Given the description of an element on the screen output the (x, y) to click on. 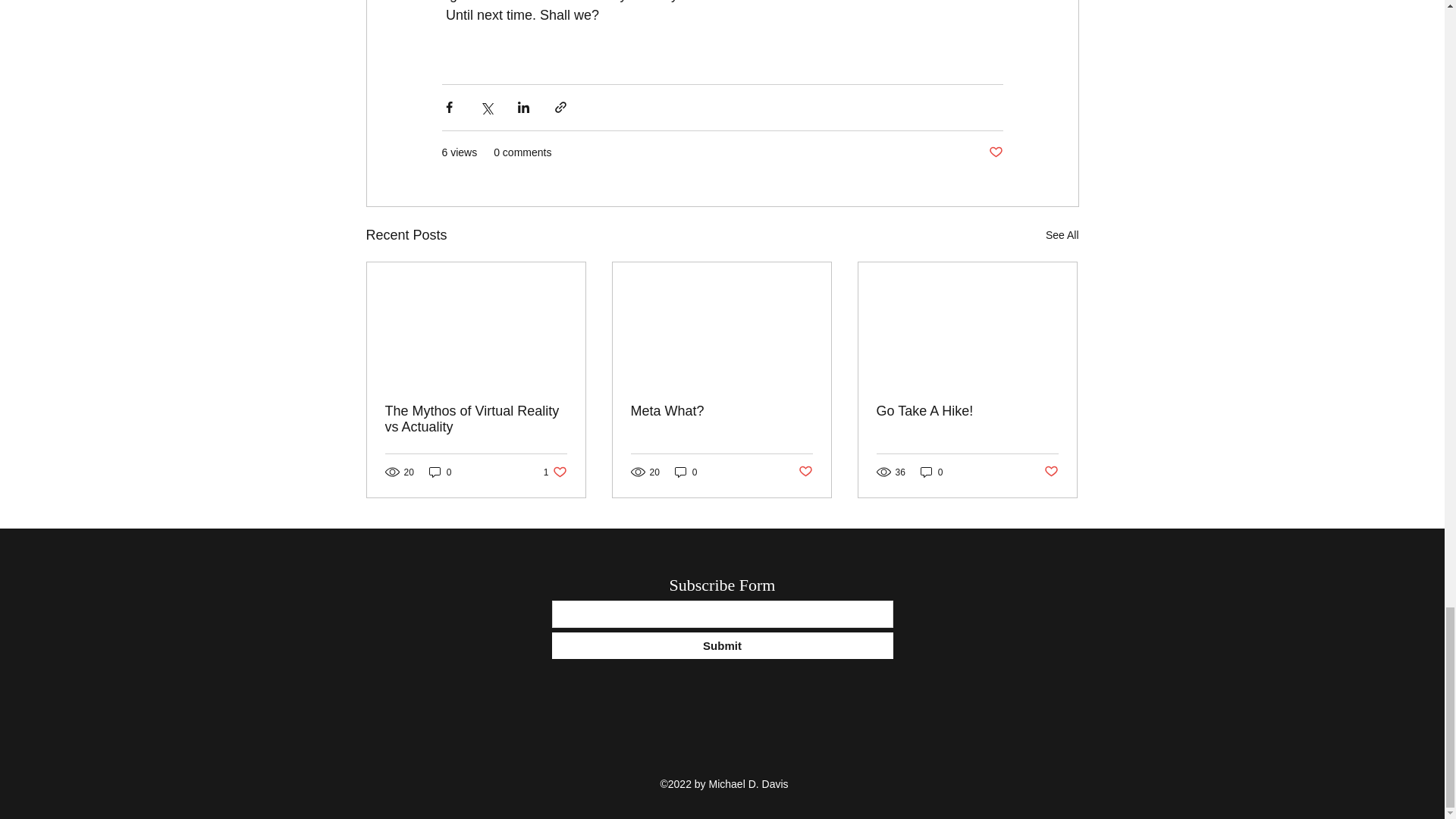
Post not marked as liked (995, 152)
The Mythos of Virtual Reality vs Actuality (476, 418)
See All (1061, 235)
0 (440, 472)
